Given the description of an element on the screen output the (x, y) to click on. 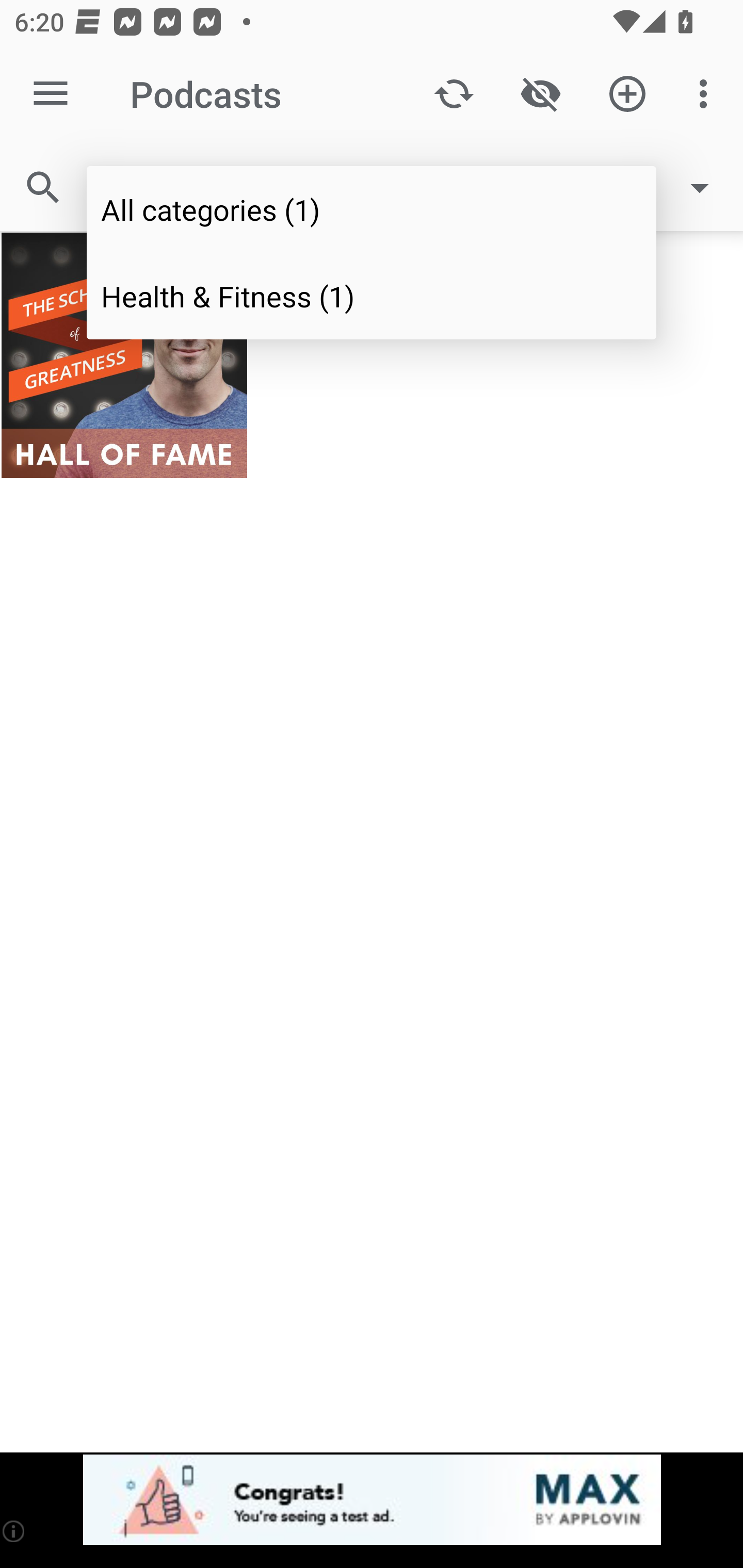
All categories (1) (371, 209)
Health & Fitness (1) (371, 295)
